Given the description of an element on the screen output the (x, y) to click on. 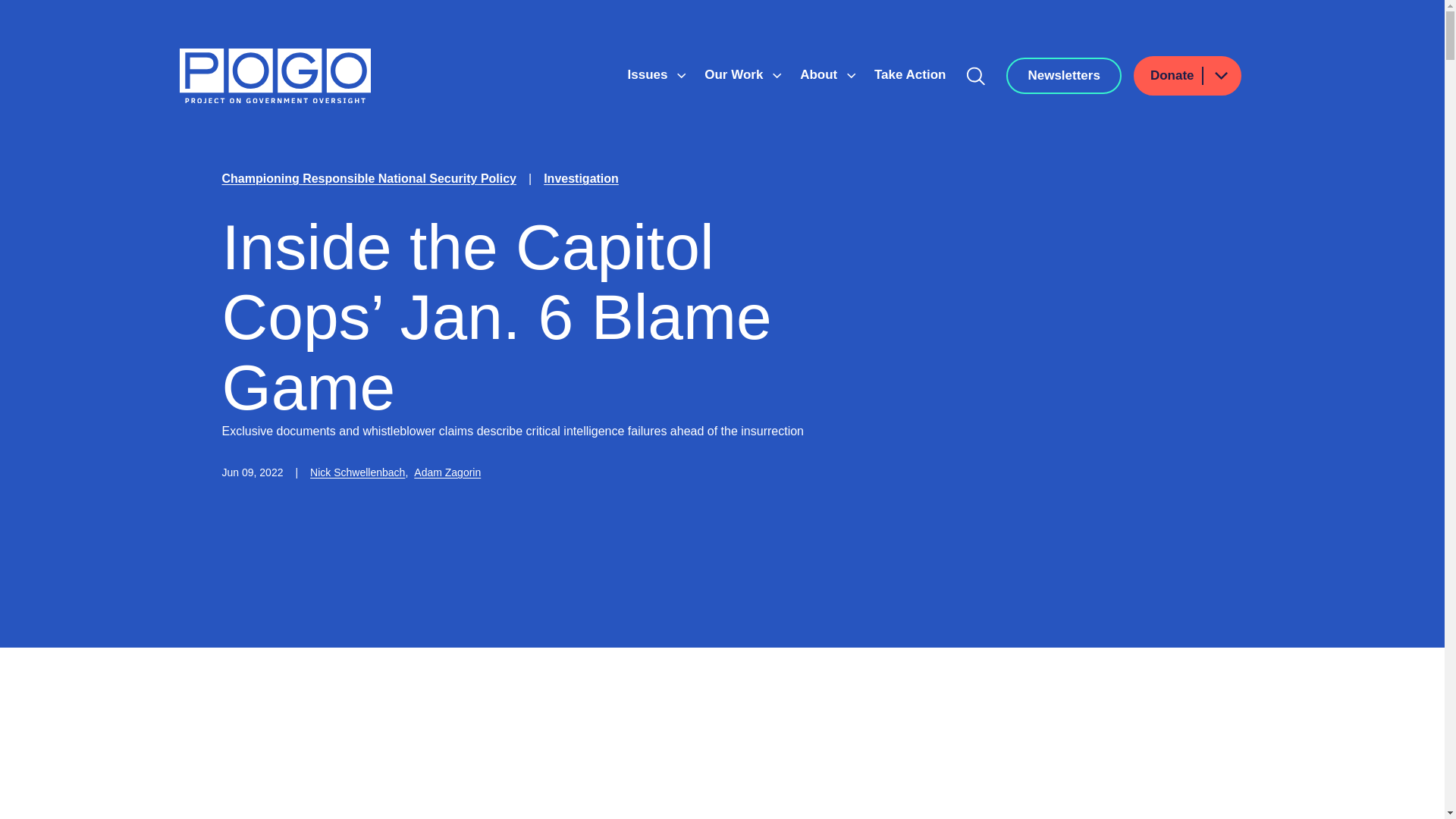
Search (976, 75)
Newsletters (1063, 75)
About (820, 74)
Show submenu for Donate (1220, 75)
Show submenu for Issues (681, 75)
Show submenu for Our Work (777, 75)
Our Work (735, 74)
Home (274, 75)
Show submenu for About (851, 75)
Donate (1187, 75)
Take Action (909, 74)
Issues (649, 74)
